Given the description of an element on the screen output the (x, y) to click on. 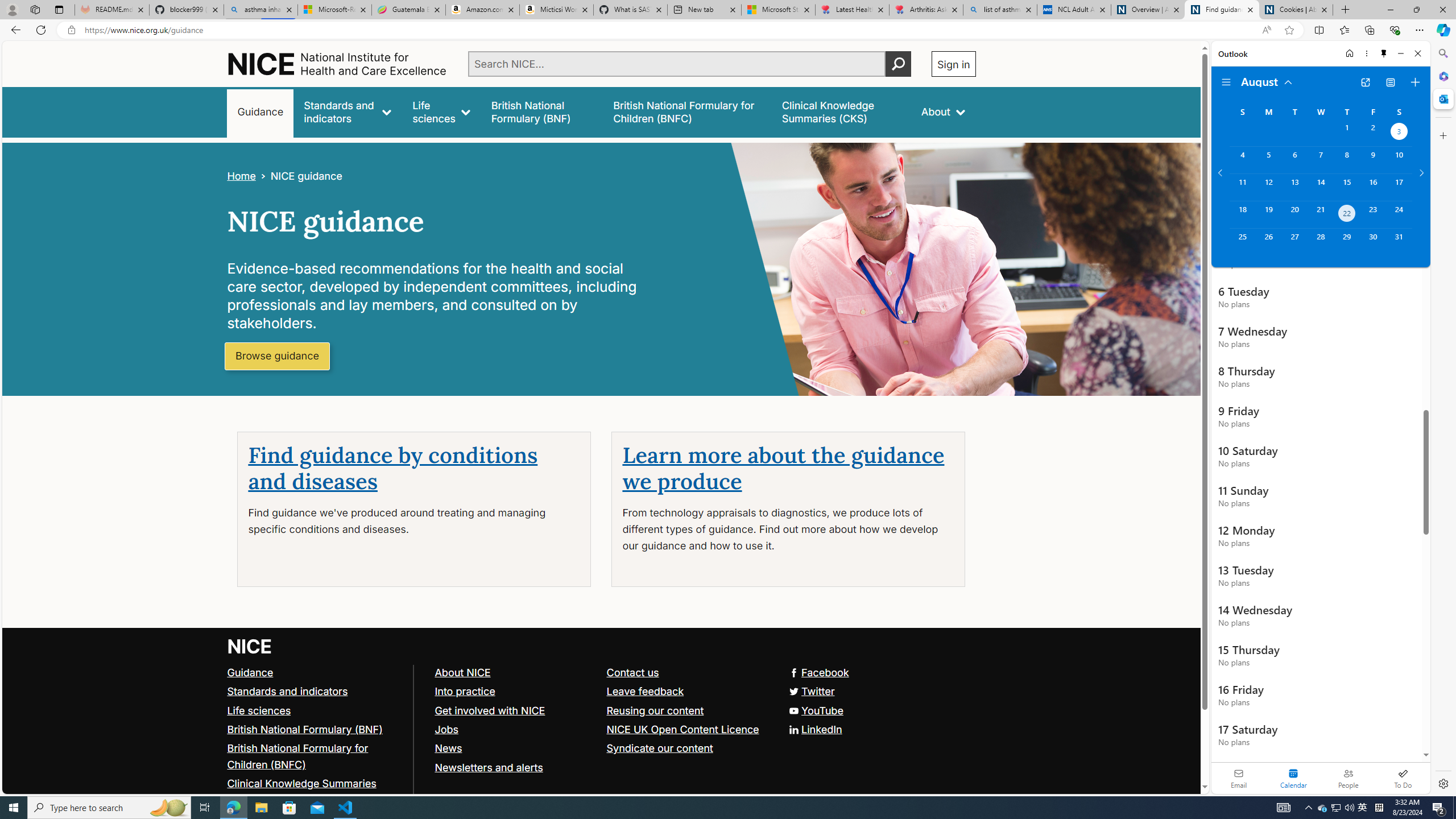
August (1267, 80)
Friday, August 2, 2024.  (1372, 132)
Create event (1414, 82)
Close Customize pane (1442, 135)
Friday, August 30, 2024.  (1372, 241)
Saturday, August 3, 2024. Date selected.  (1399, 132)
Saturday, August 31, 2024.  (1399, 241)
